Given the description of an element on the screen output the (x, y) to click on. 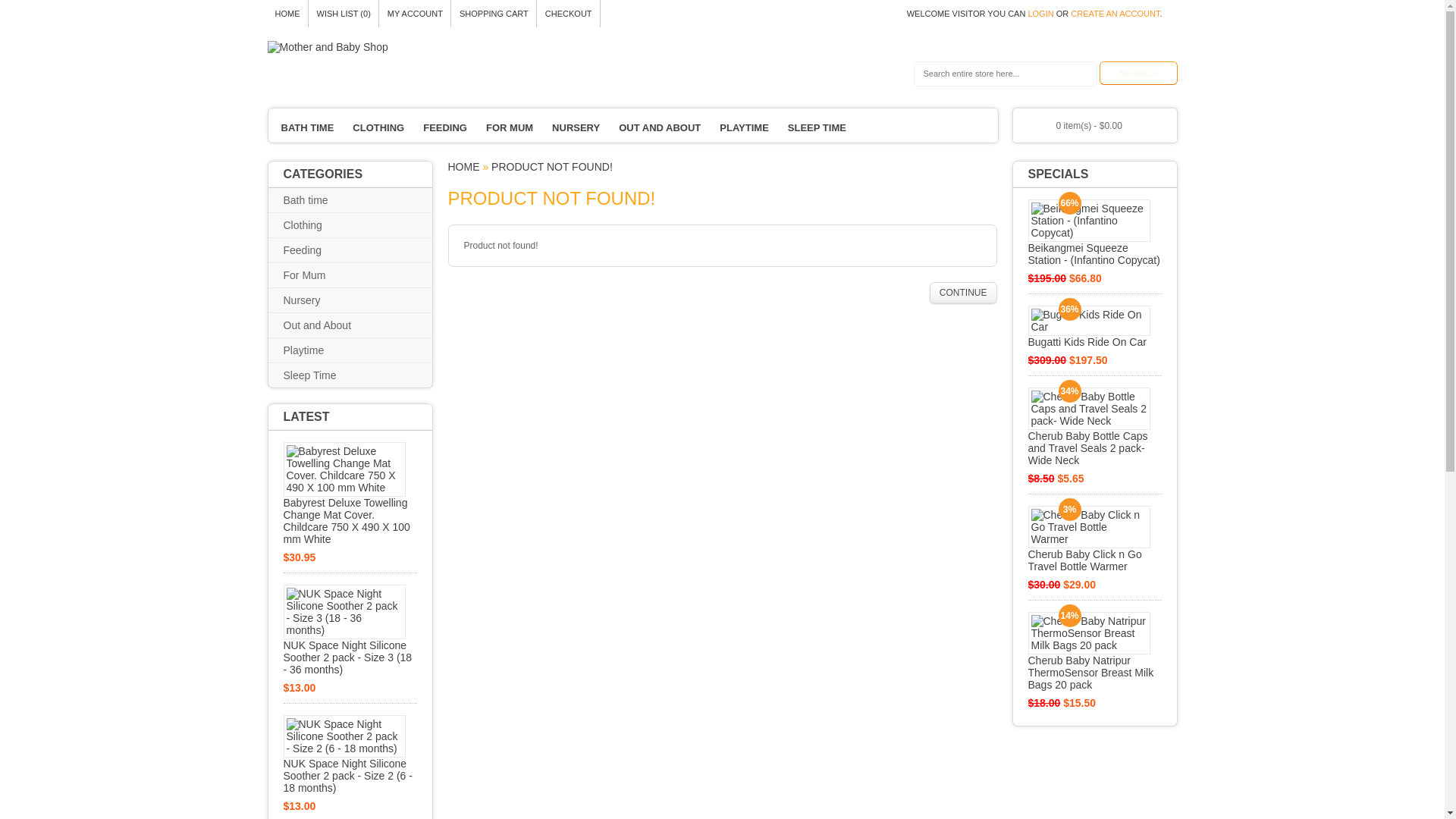
Feeding Element type: text (314, 250)
Cherub Baby Click n Go Travel Bottle Warmer Element type: text (1094, 538)
NURSERY Element type: text (575, 128)
CONTINUE Element type: text (963, 292)
SHOPPING CART Element type: text (493, 13)
Cherub Baby Natripur ThermoSensor Breast Milk Bags 20 pack Element type: text (1094, 650)
For Mum Element type: text (315, 275)
Mother and Baby Shop Element type: hover (326, 46)
MY ACCOUNT Element type: text (415, 13)
LOGIN Element type: text (1040, 13)
SLEEP TIME Element type: text (816, 128)
HOME Element type: text (463, 166)
PRODUCT NOT FOUND! Element type: text (551, 166)
CREATE AN ACCOUNT Element type: text (1114, 13)
FEEDING Element type: text (444, 128)
CLOTHING Element type: text (378, 128)
Beikangmei Squeeze Station - (Infantino Copycat) Element type: text (1094, 232)
Bath time Element type: text (317, 200)
Bugatti Kids Ride On Car Element type: text (1094, 326)
BATH TIME Element type: text (307, 128)
HOME Element type: text (286, 13)
WISH LIST (0) Element type: text (342, 13)
PLAYTIME Element type: text (744, 128)
Nursery Element type: text (313, 300)
Sleep Time Element type: text (321, 375)
Clothing Element type: text (314, 225)
OUT AND ABOUT Element type: text (659, 128)
CHECKOUT Element type: text (568, 13)
Out and About Element type: text (328, 325)
Playtime Element type: text (315, 350)
Search Element type: hover (1137, 72)
FOR MUM Element type: text (509, 128)
Cherub Baby Bottle Caps and Travel Seals 2 pack- Wide Neck Element type: text (1094, 426)
